Given the description of an element on the screen output the (x, y) to click on. 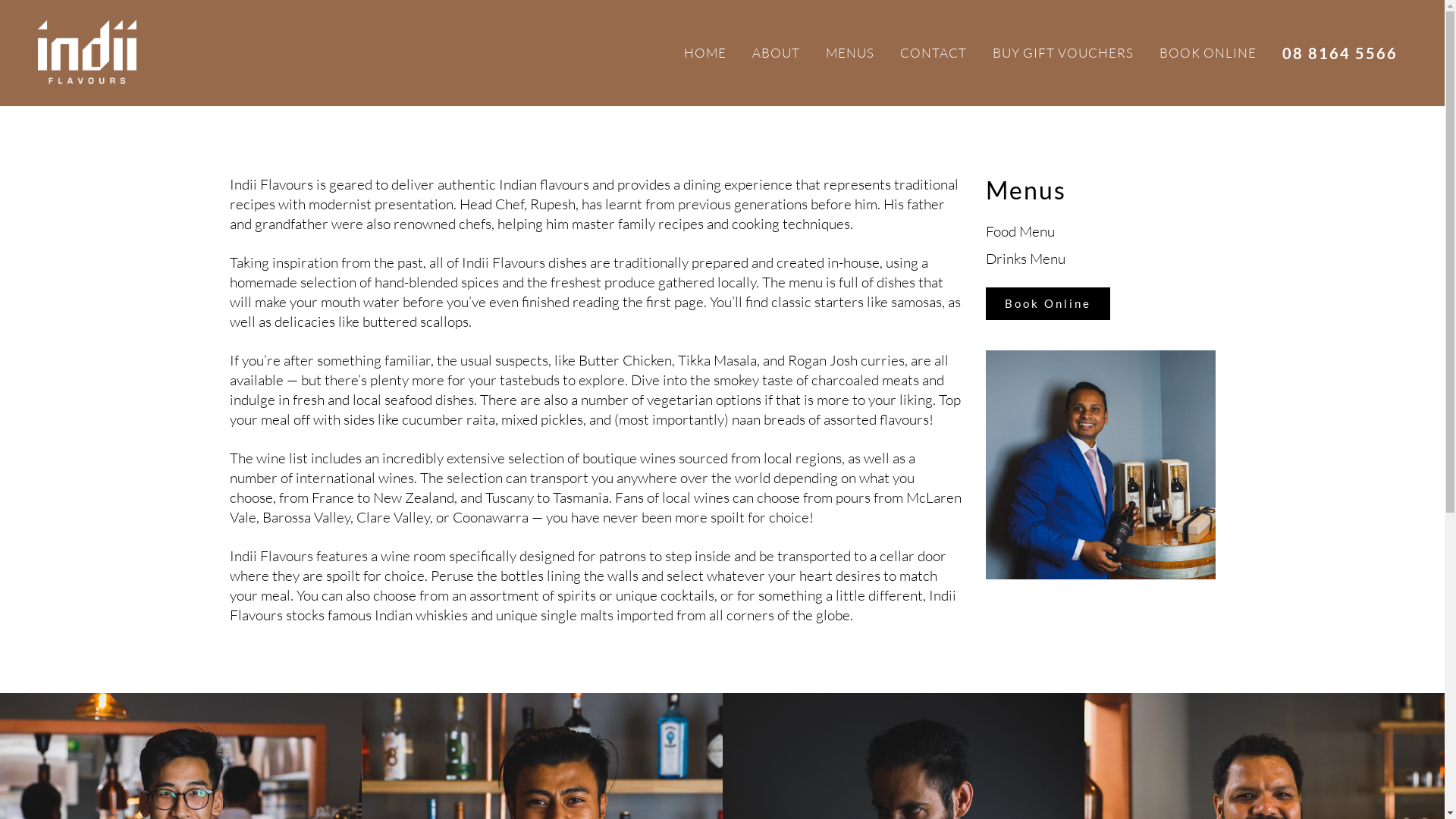
BUY GIFT VOUCHERS Element type: text (1062, 53)
HOME Element type: text (705, 53)
MENUS Element type: text (849, 53)
ABOUT Element type: text (775, 53)
Drinks Menu Element type: text (1025, 258)
CONTACT Element type: text (933, 53)
Food Menu Element type: text (1019, 231)
Book Online Element type: text (1047, 303)
BOOK ONLINE Element type: text (1207, 53)
